Given the description of an element on the screen output the (x, y) to click on. 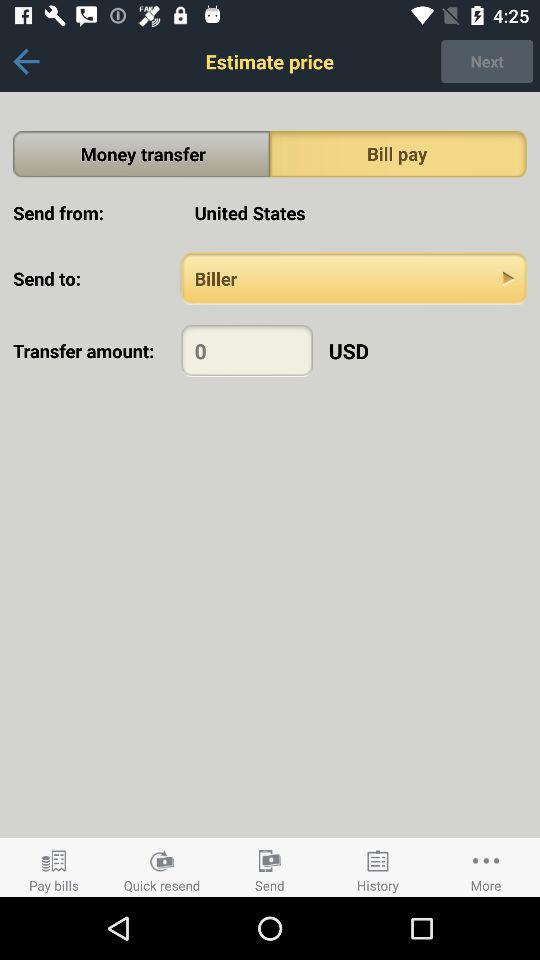
press app to the right of the send from: icon (353, 212)
